Given the description of an element on the screen output the (x, y) to click on. 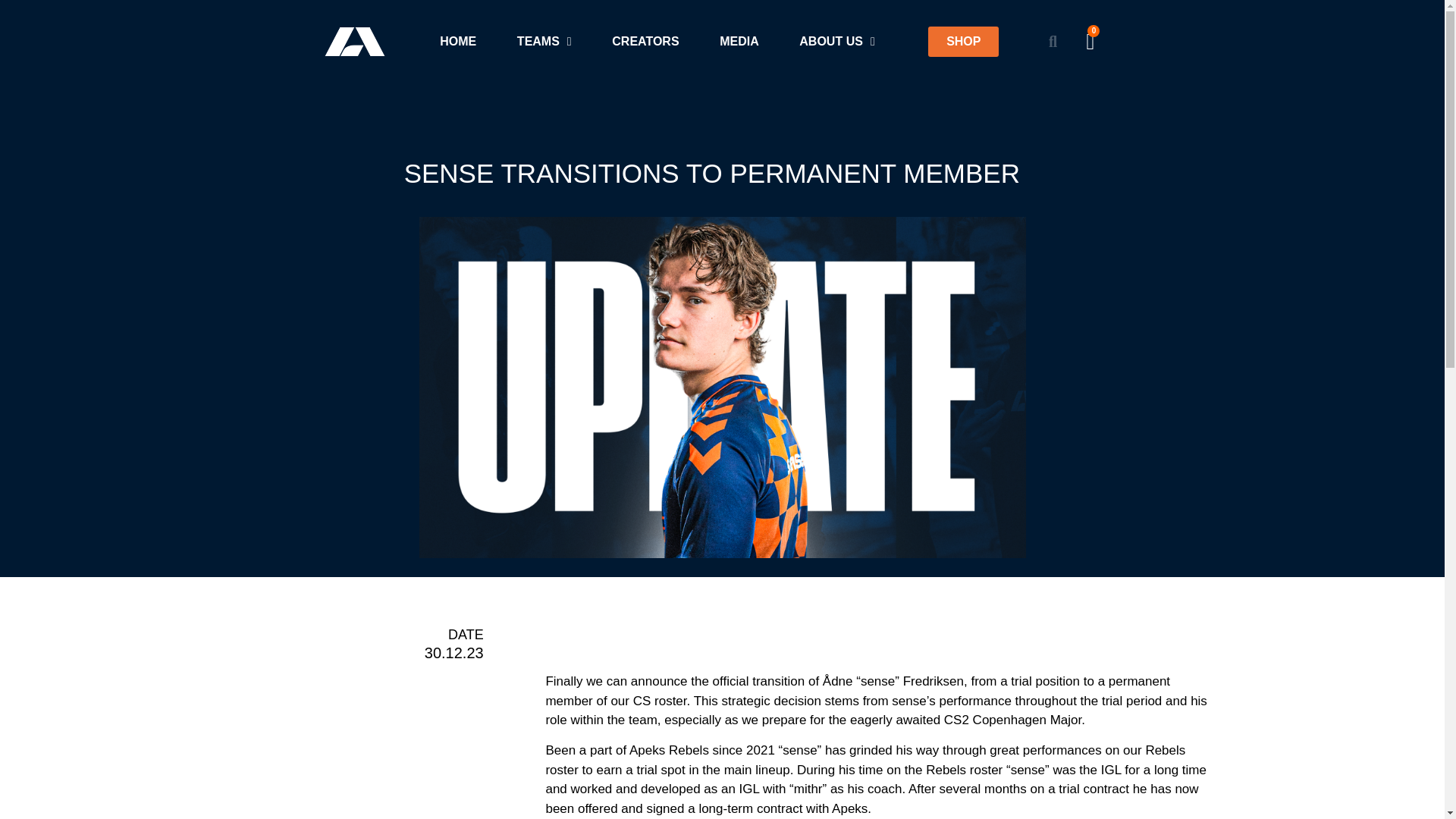
SHOP (963, 41)
HOME (458, 41)
MEDIA (738, 41)
0 (1089, 41)
ABOUT US (836, 41)
TEAMS (543, 41)
CREATORS (644, 41)
